Given the description of an element on the screen output the (x, y) to click on. 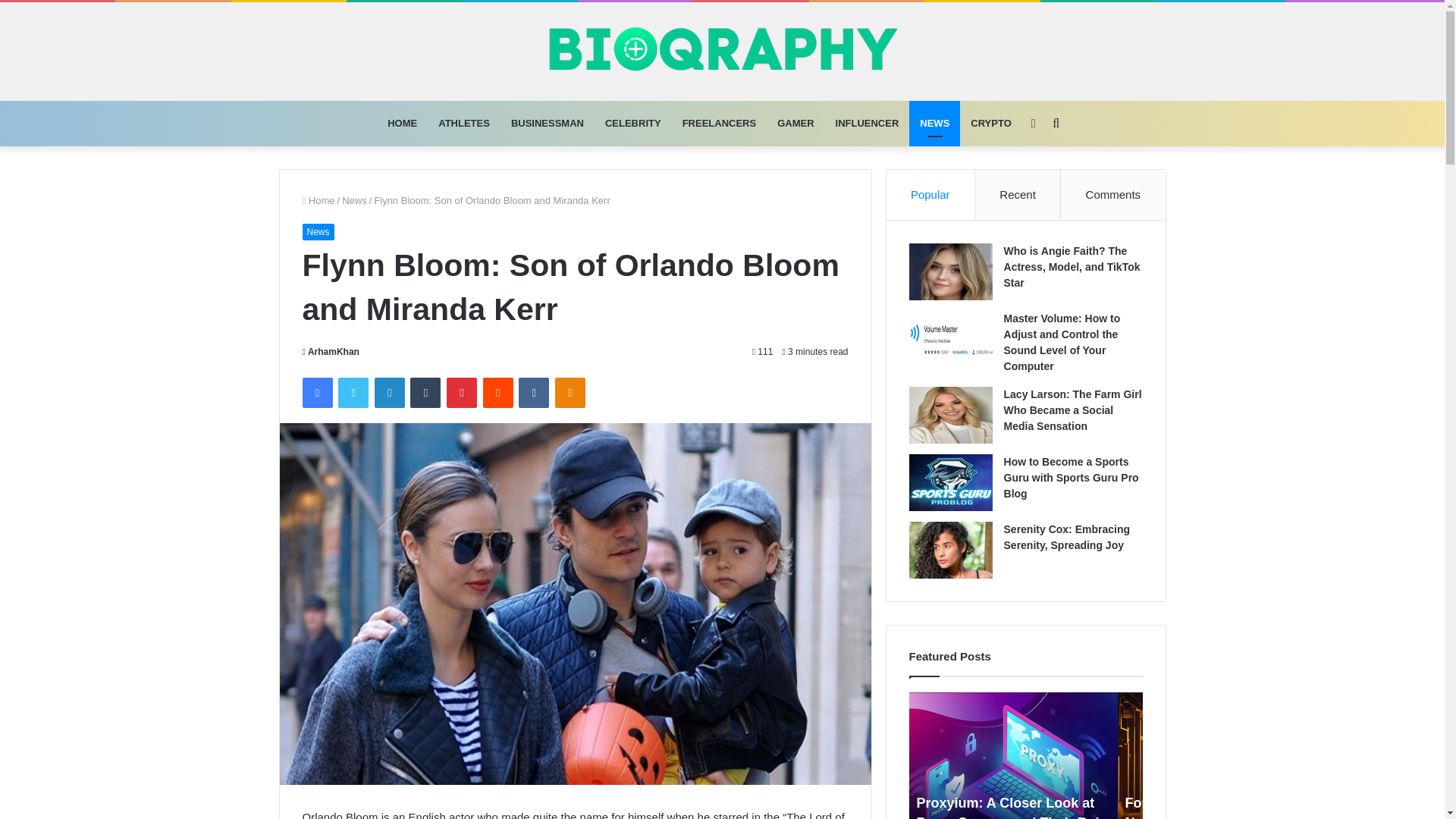
Odnoklassniki (569, 392)
Facebook (316, 392)
LinkedIn (389, 392)
VKontakte (533, 392)
CRYPTO (990, 123)
Home (317, 200)
GAMER (795, 123)
ATHLETES (464, 123)
LinkedIn (389, 392)
Tumblr (425, 392)
